Given the description of an element on the screen output the (x, y) to click on. 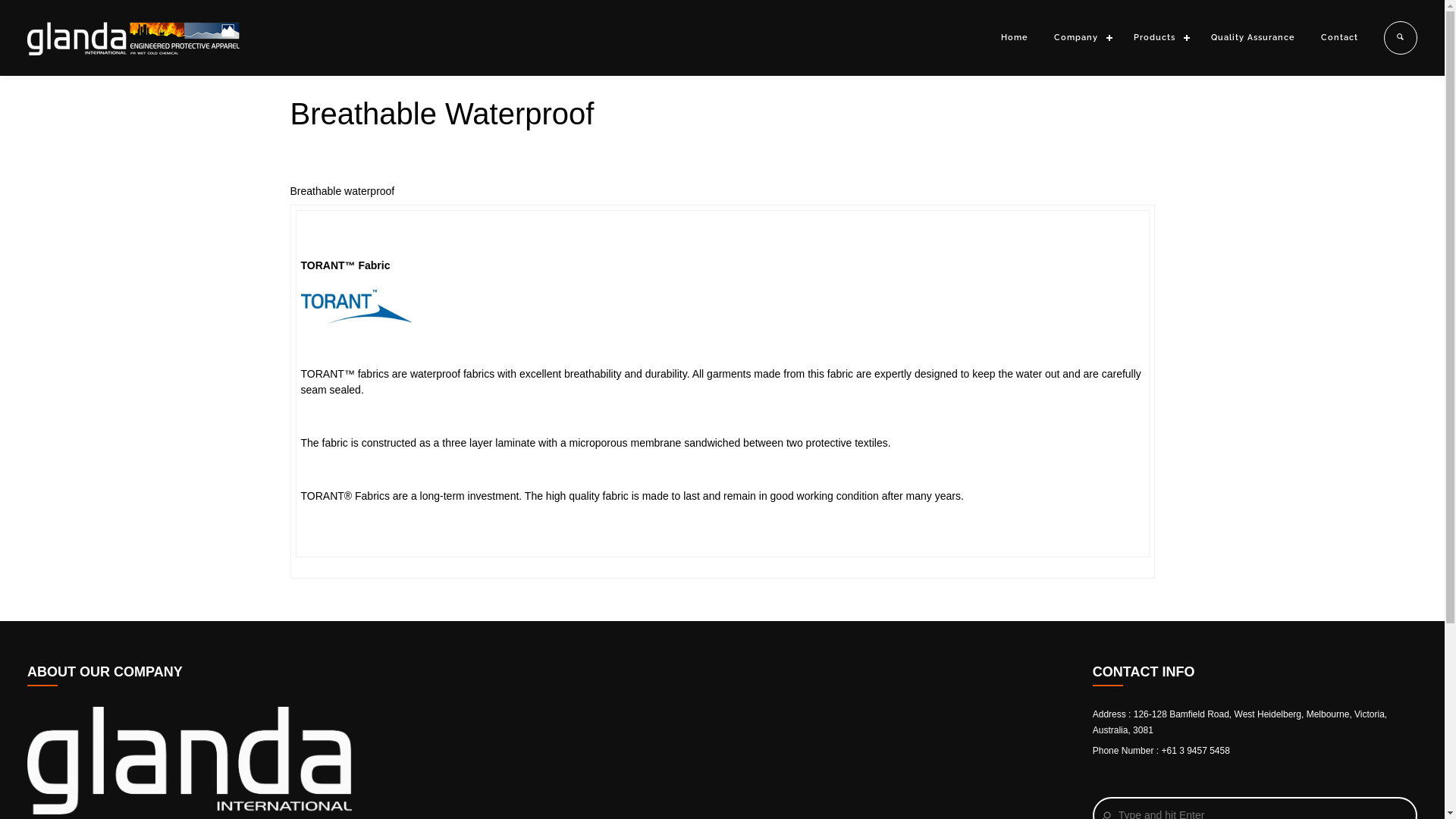
  Element type: text (1394, 37)
Home Element type: text (1014, 37)
Products Element type: text (1159, 37)
Contact Element type: text (1339, 37)
Company Element type: text (1080, 37)
Quality Assurance Element type: text (1253, 37)
